Given the description of an element on the screen output the (x, y) to click on. 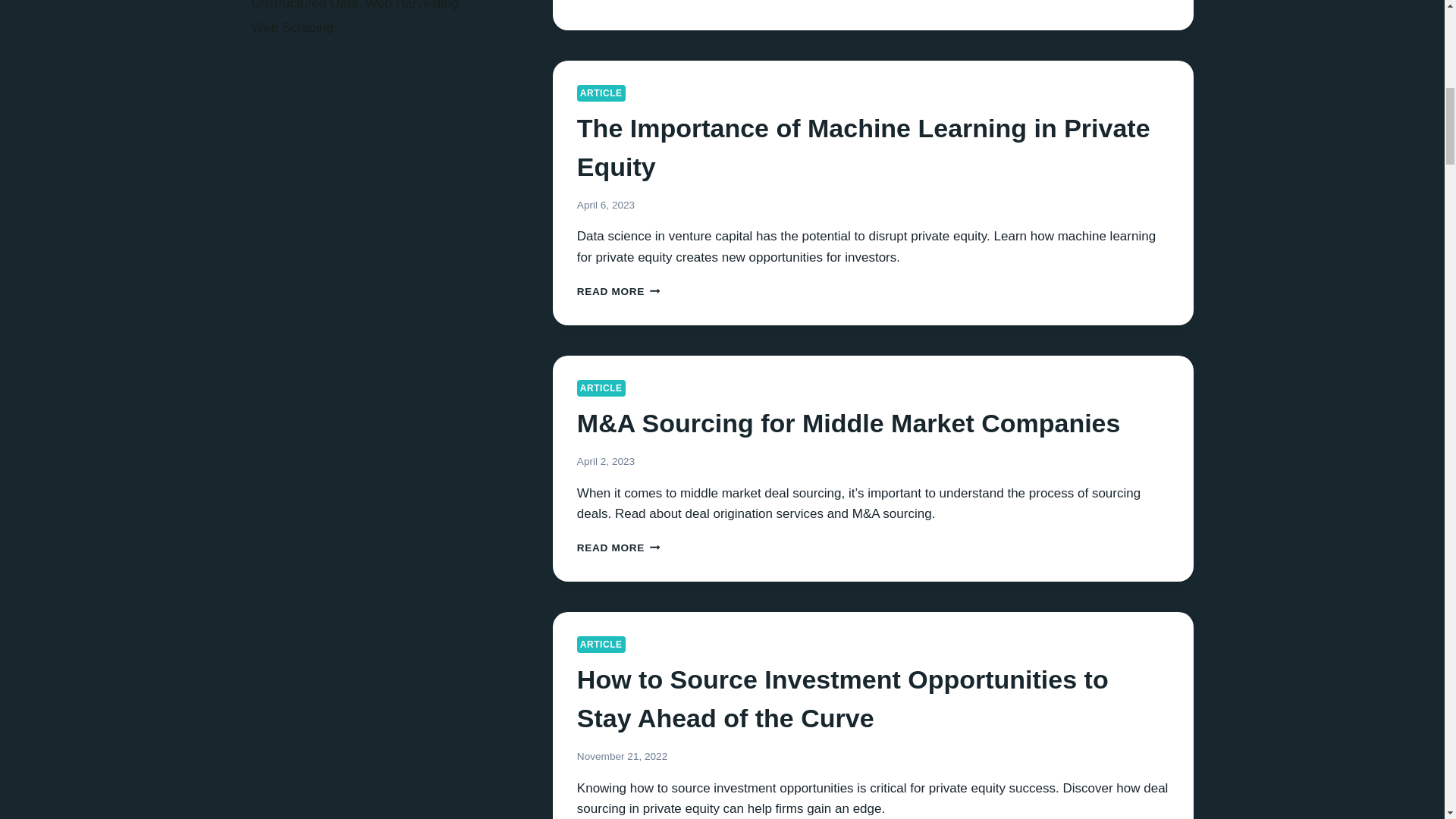
ARTICLE (601, 644)
ARTICLE (601, 93)
ARTICLE (601, 388)
The Importance of Machine Learning in Private Equity (863, 146)
